Given the description of an element on the screen output the (x, y) to click on. 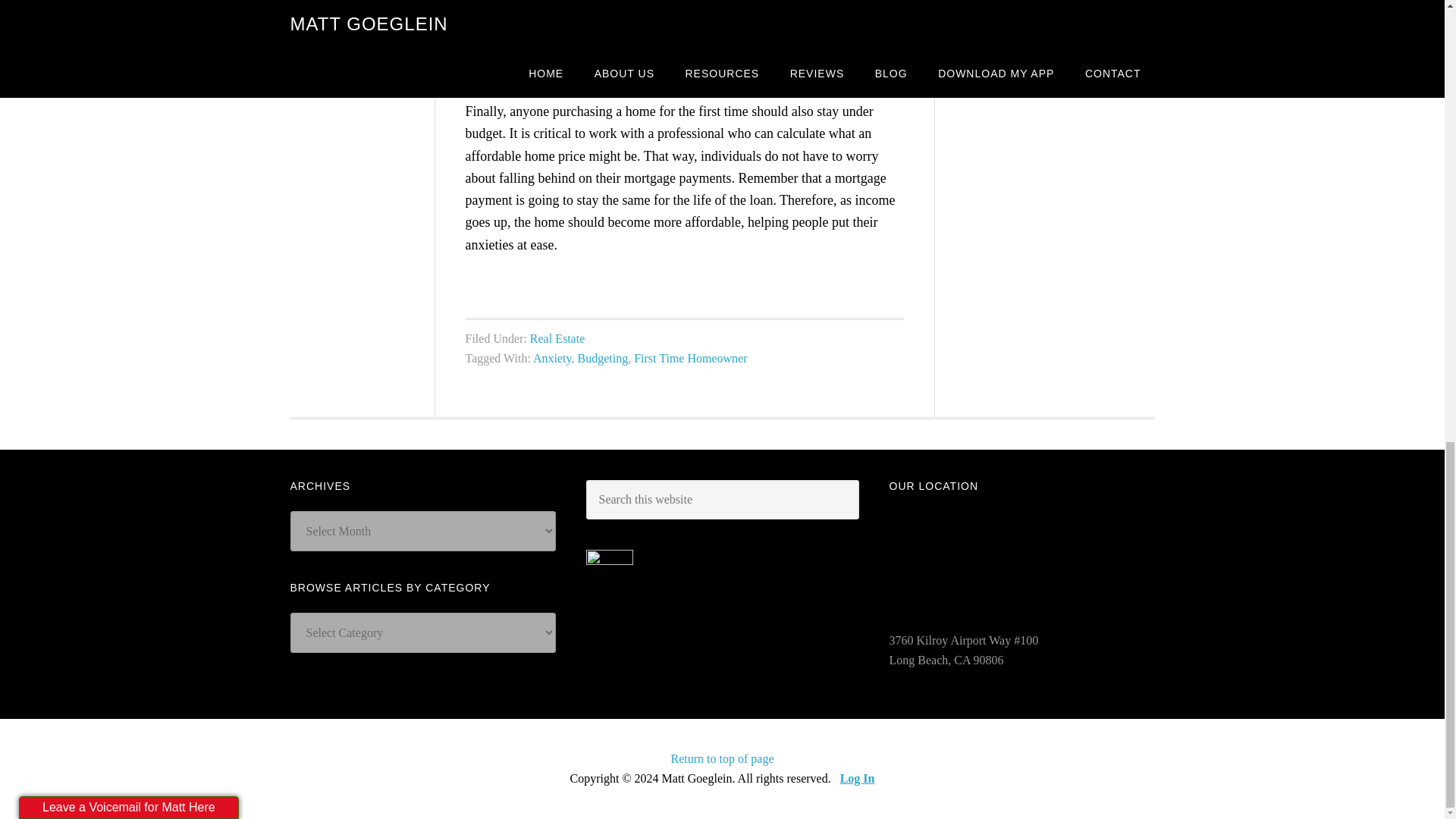
Log In (857, 778)
Return to top of page (722, 758)
First Time Homeowner (689, 358)
Anxiety (552, 358)
Budgeting (603, 358)
Real Estate (557, 338)
